Given the description of an element on the screen output the (x, y) to click on. 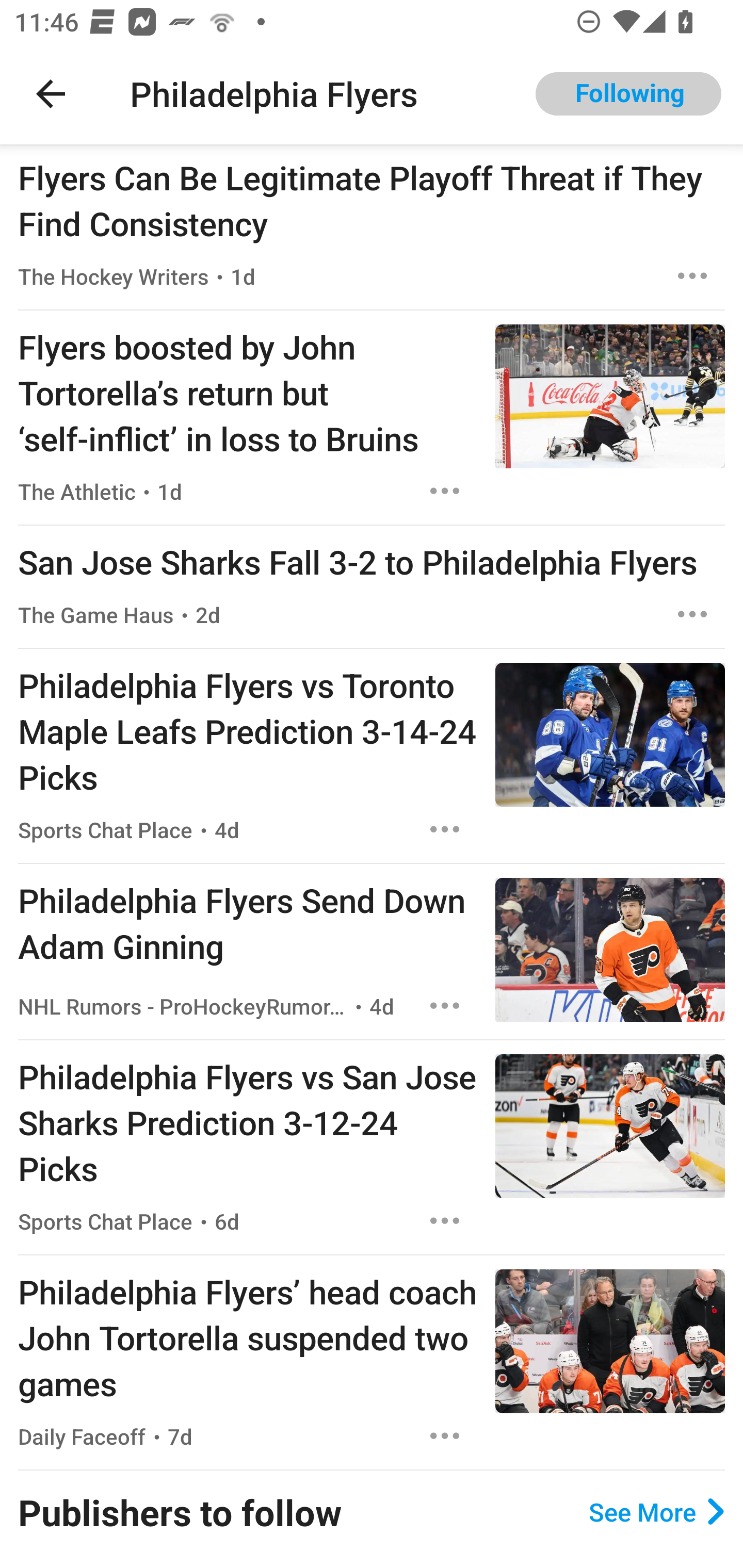
Navigate up (50, 93)
Following (628, 94)
Options (692, 275)
Options (444, 490)
Options (692, 614)
Options (444, 829)
Options (444, 1005)
Options (444, 1220)
Options (444, 1436)
See More (656, 1511)
